Given the description of an element on the screen output the (x, y) to click on. 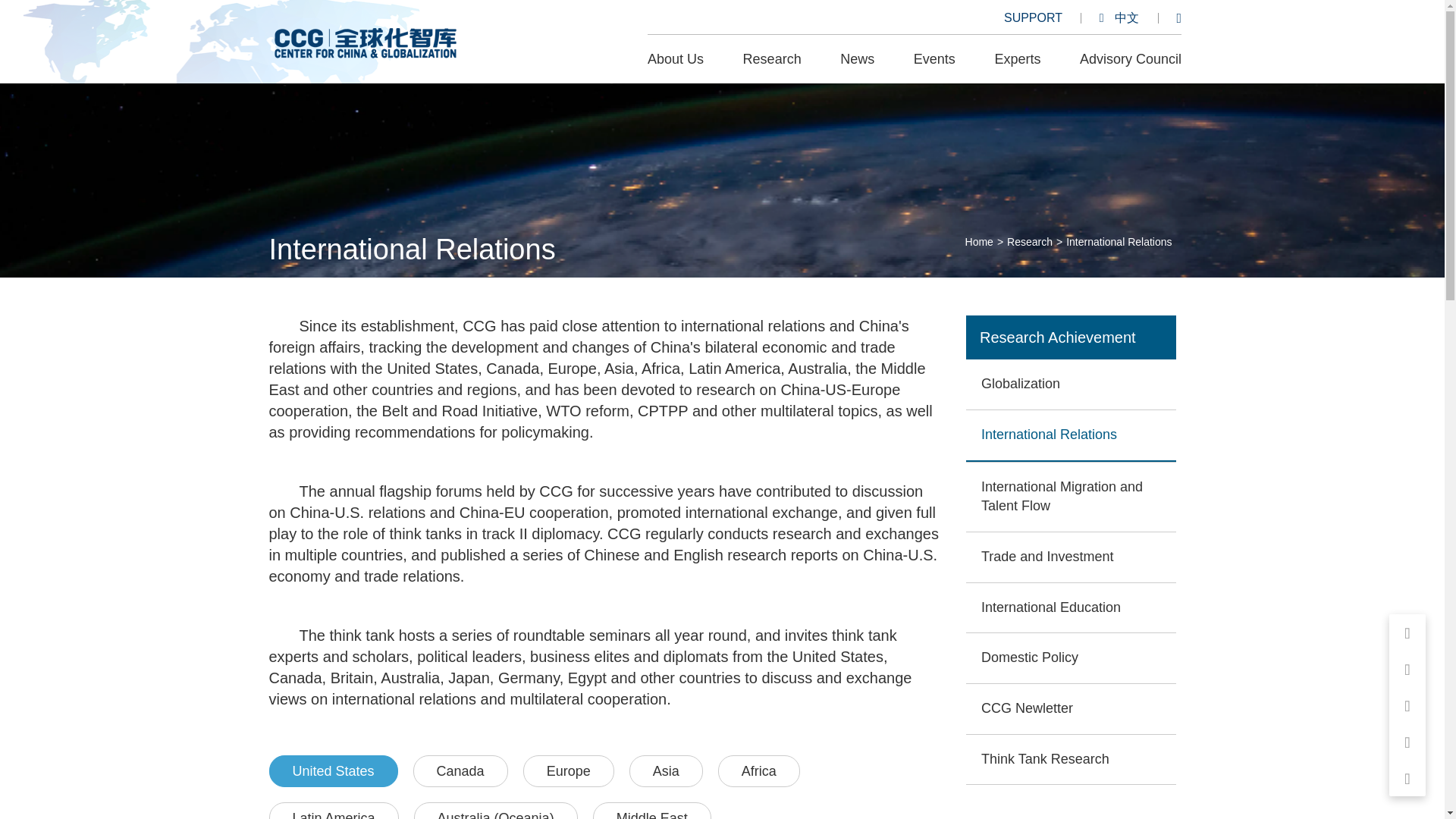
Research (772, 58)
SUPPORT (1033, 17)
